Given the description of an element on the screen output the (x, y) to click on. 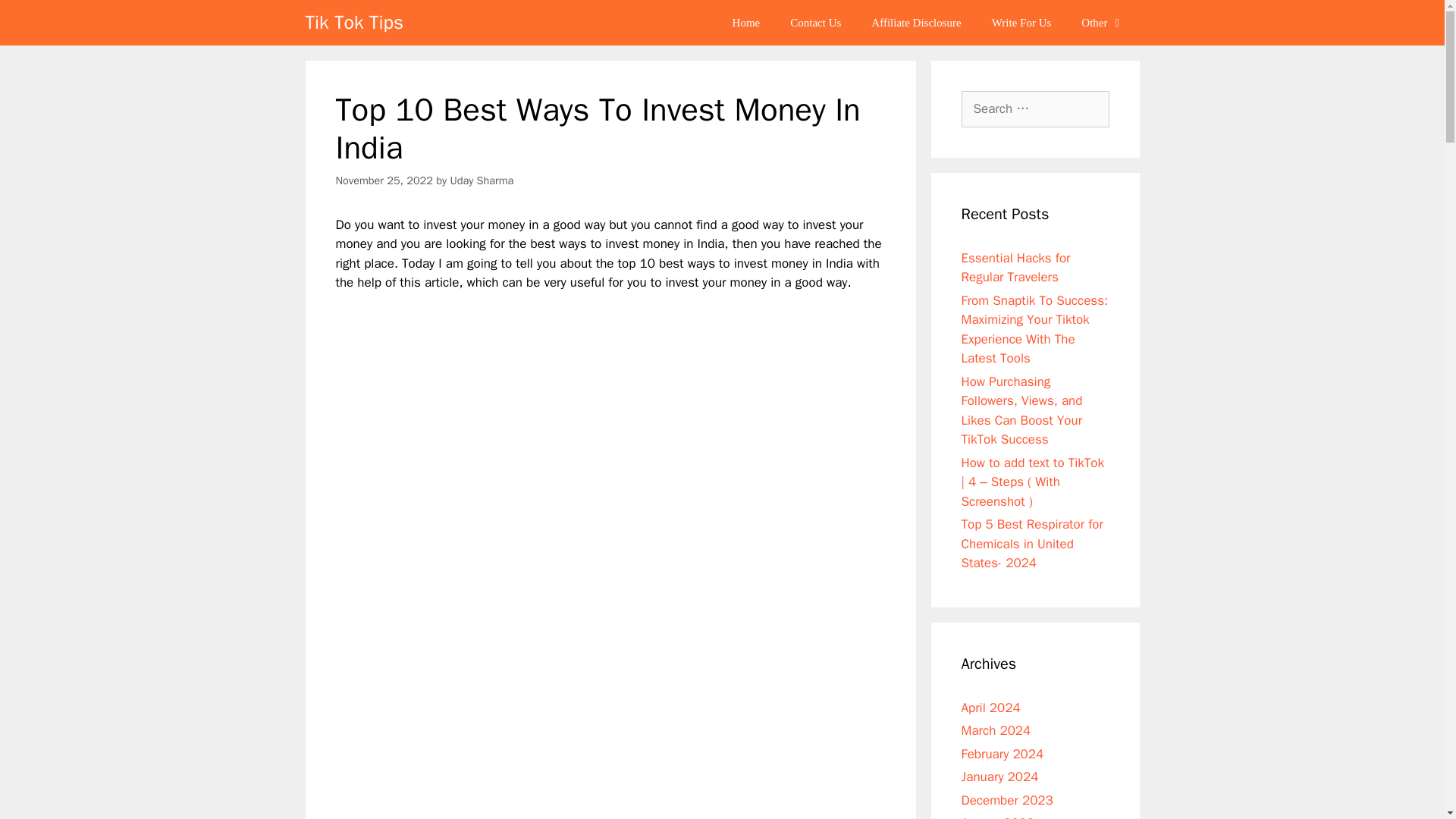
Tik Tok Tips (353, 22)
Other (1101, 22)
Search for: (1034, 108)
Write For Us (1021, 22)
Home (746, 22)
View all posts by Uday Sharma (481, 180)
Uday Sharma (481, 180)
Affiliate Disclosure (915, 22)
Contact Us (815, 22)
